Given the description of an element on the screen output the (x, y) to click on. 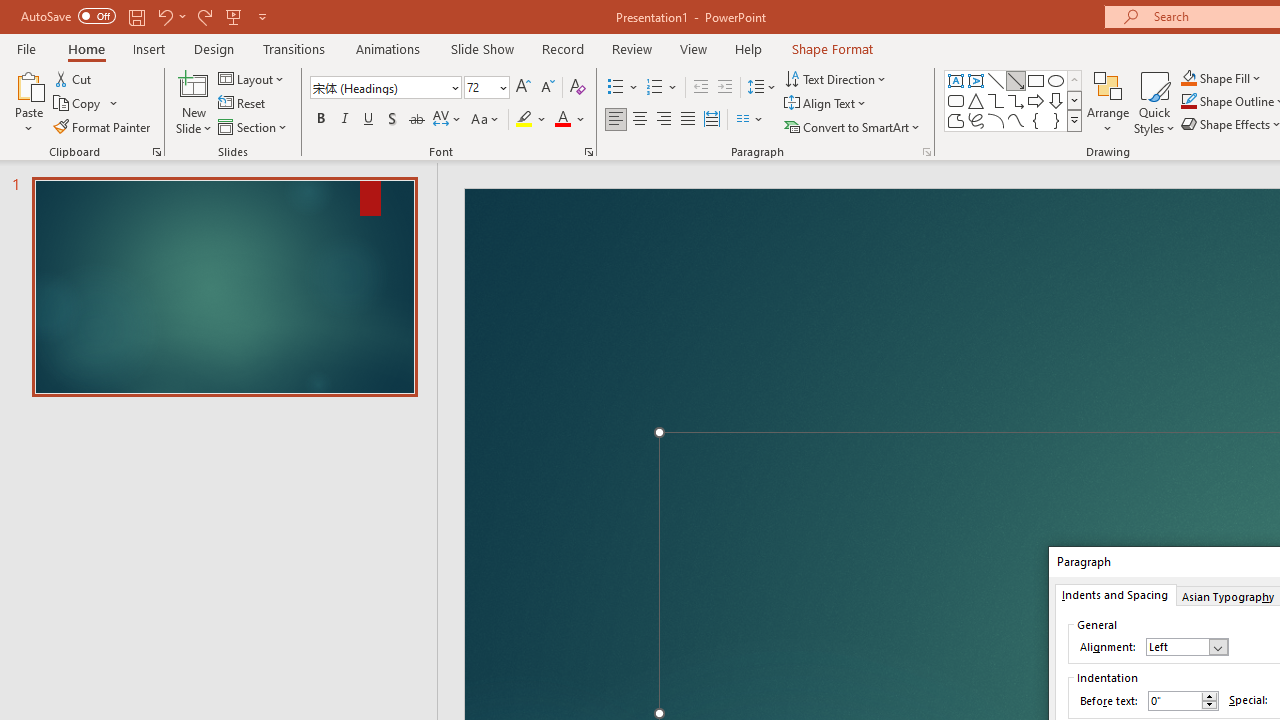
Connector: Elbow (995, 100)
Less (1209, 705)
Font Color (569, 119)
Connector: Elbow Arrow (1016, 100)
Before text (1183, 701)
Align Left (616, 119)
Line Arrow (1016, 80)
Distributed (712, 119)
Decrease Font Size (547, 87)
Shape Format (832, 48)
